Given the description of an element on the screen output the (x, y) to click on. 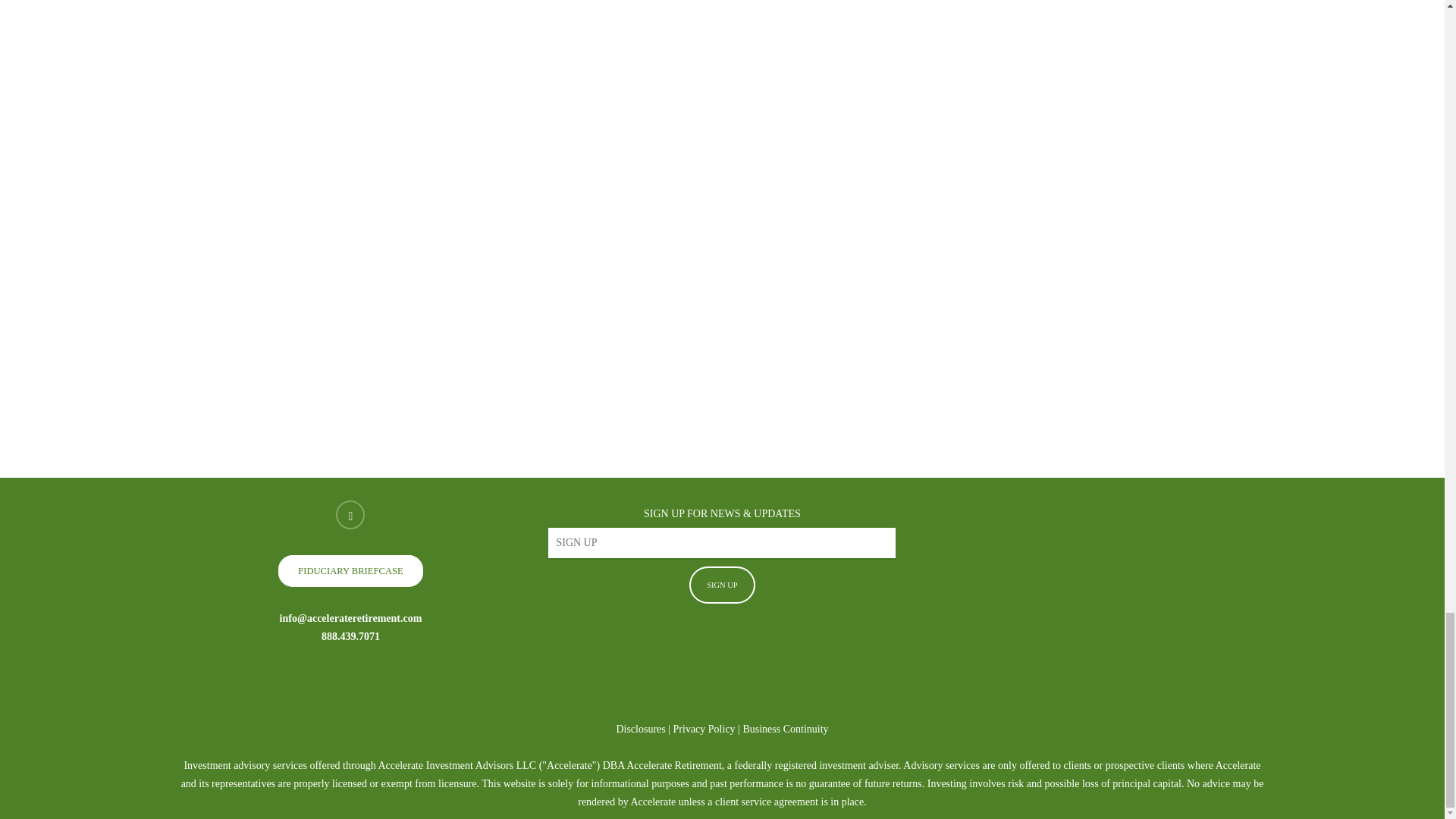
Privacy Policy (703, 728)
888.439.7071 (350, 636)
SIGN UP (721, 584)
Business Continuity (785, 728)
Disclosures (640, 728)
Accelerate Retirement Disclosure Statement (640, 728)
FIDUCIARY BRIEFCASE (350, 571)
SIGN UP (721, 584)
